Given the description of an element on the screen output the (x, y) to click on. 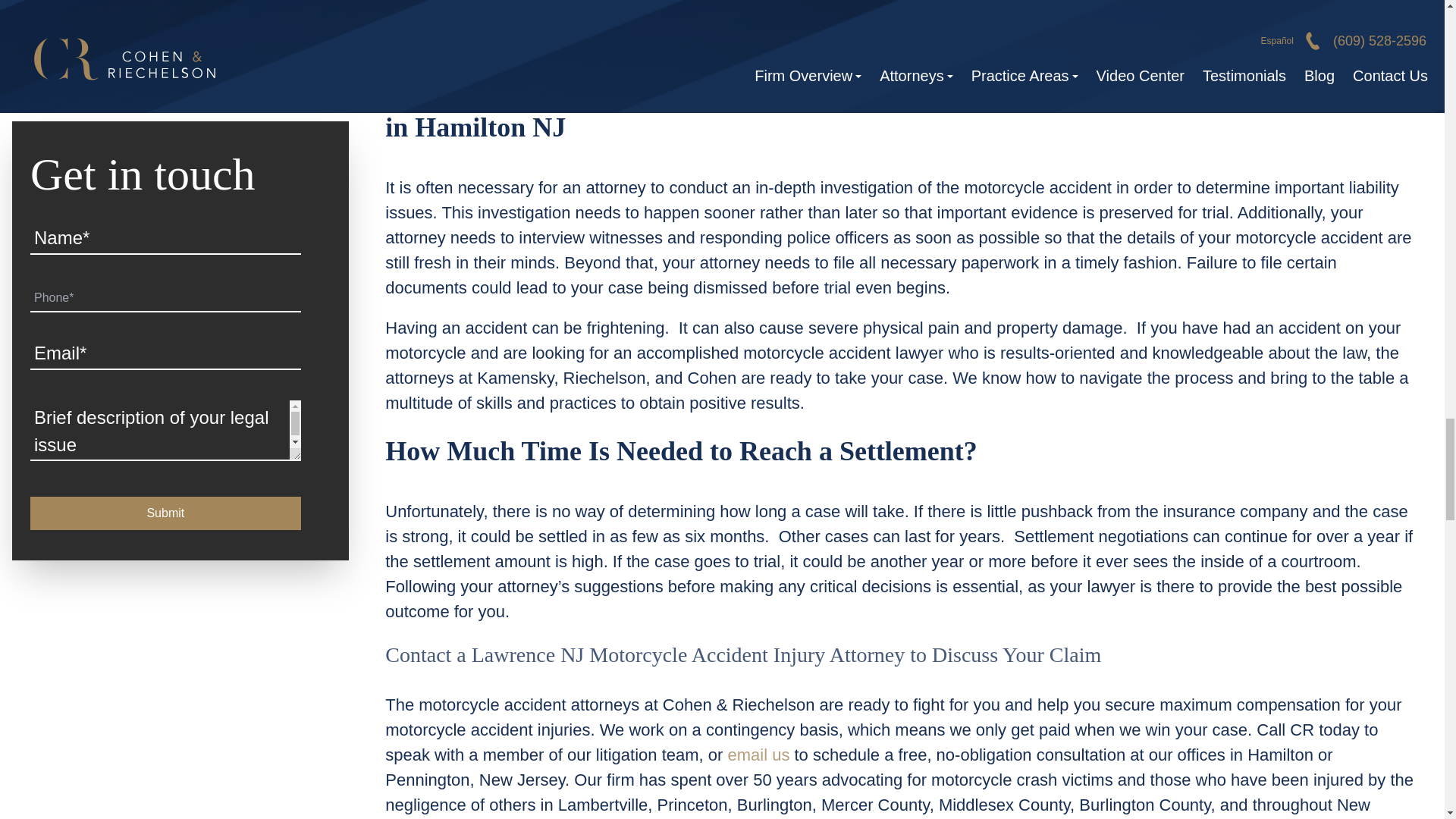
email us (757, 754)
Contact Us (757, 754)
